Given the description of an element on the screen output the (x, y) to click on. 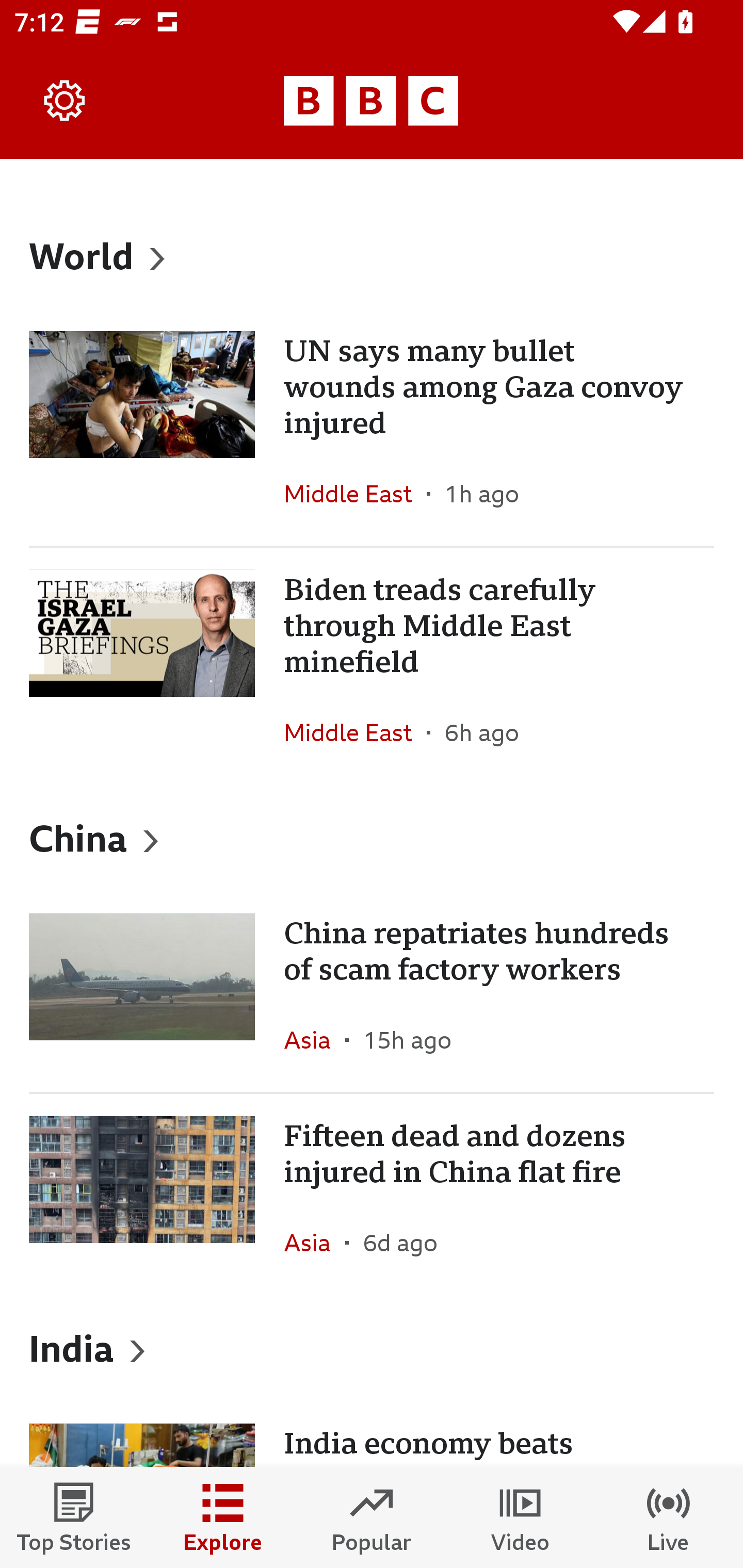
Settings (64, 100)
World, Heading World    (371, 255)
Middle East In the section Middle East (354, 493)
Middle East In the section Middle East (354, 732)
China, Heading China    (371, 837)
Asia In the section Asia (314, 1039)
Asia In the section Asia (314, 1242)
India, Heading India    (371, 1348)
Top Stories (74, 1517)
Popular (371, 1517)
Video (519, 1517)
Live (668, 1517)
